Given the description of an element on the screen output the (x, y) to click on. 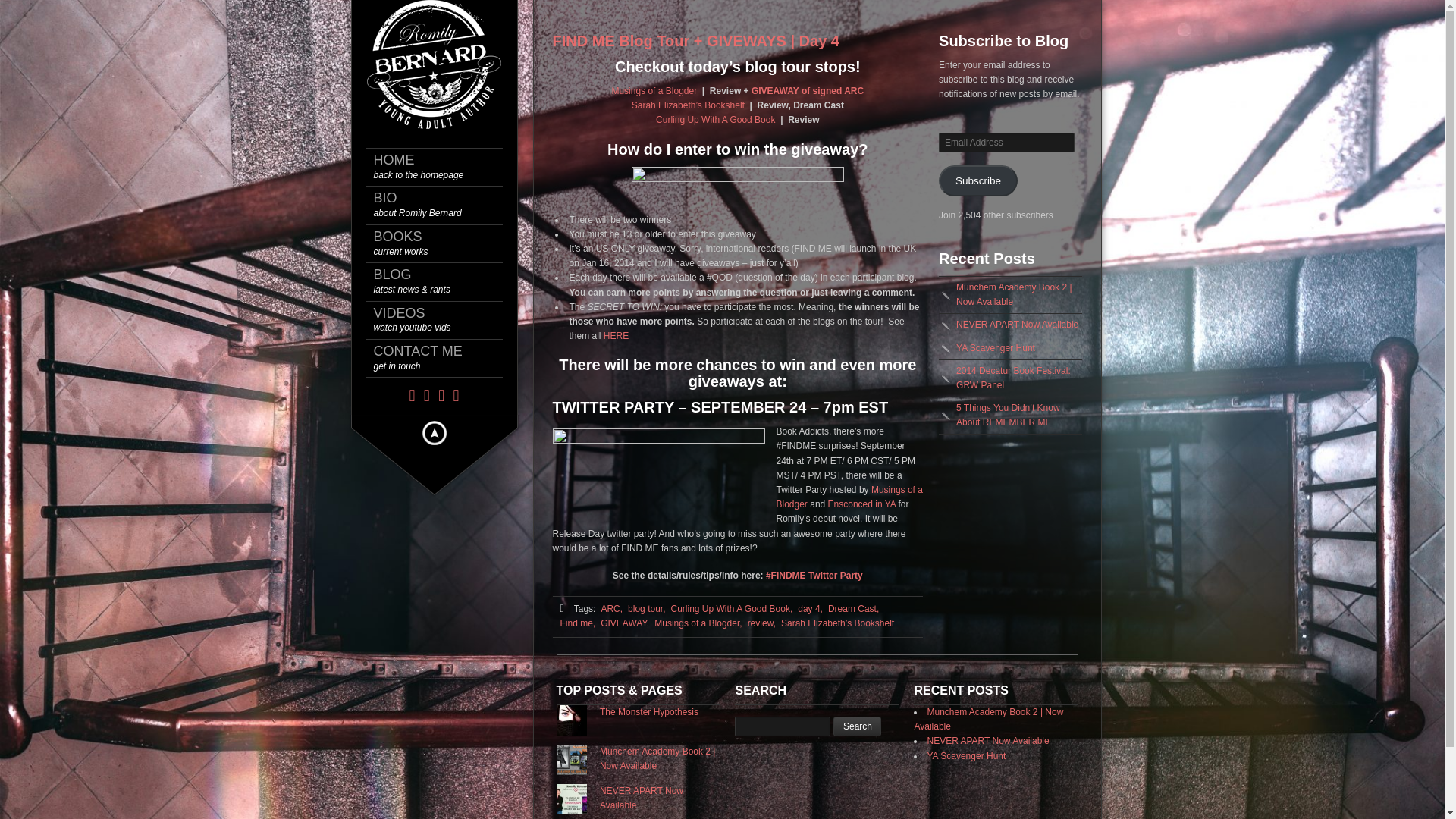
musings of a blogder (654, 90)
Hide the navigation (432, 432)
Search (856, 726)
Musings of a Blogder Tag (697, 623)
GIVEAWAY Tag (624, 623)
sarah elizabeths bookshelf (687, 104)
day 4 Tag (809, 608)
Curling Up With A Good Book Tag (730, 608)
Search (440, 357)
blog tour Tag (440, 320)
Romily Bernard (856, 726)
ARC Tag (440, 243)
